Given the description of an element on the screen output the (x, y) to click on. 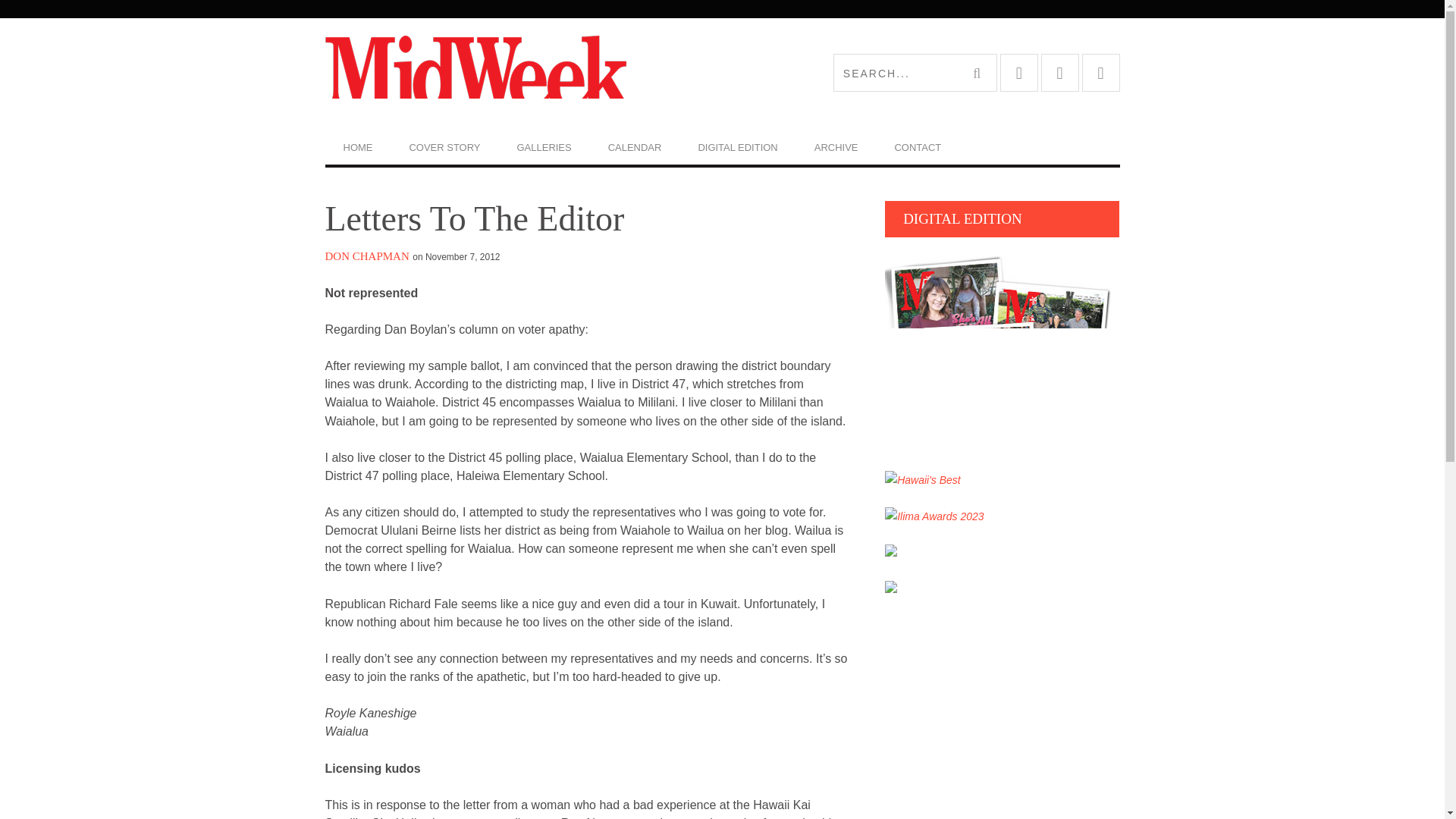
HOME (357, 147)
CONTACT (917, 147)
DIGITAL EDITION (736, 147)
CALENDAR (634, 147)
ARCHIVE (836, 147)
COVER STORY (443, 147)
MidWeek (523, 72)
Posts by Don Chapman (366, 256)
GALLERIES (544, 147)
DON CHAPMAN (366, 256)
